Given the description of an element on the screen output the (x, y) to click on. 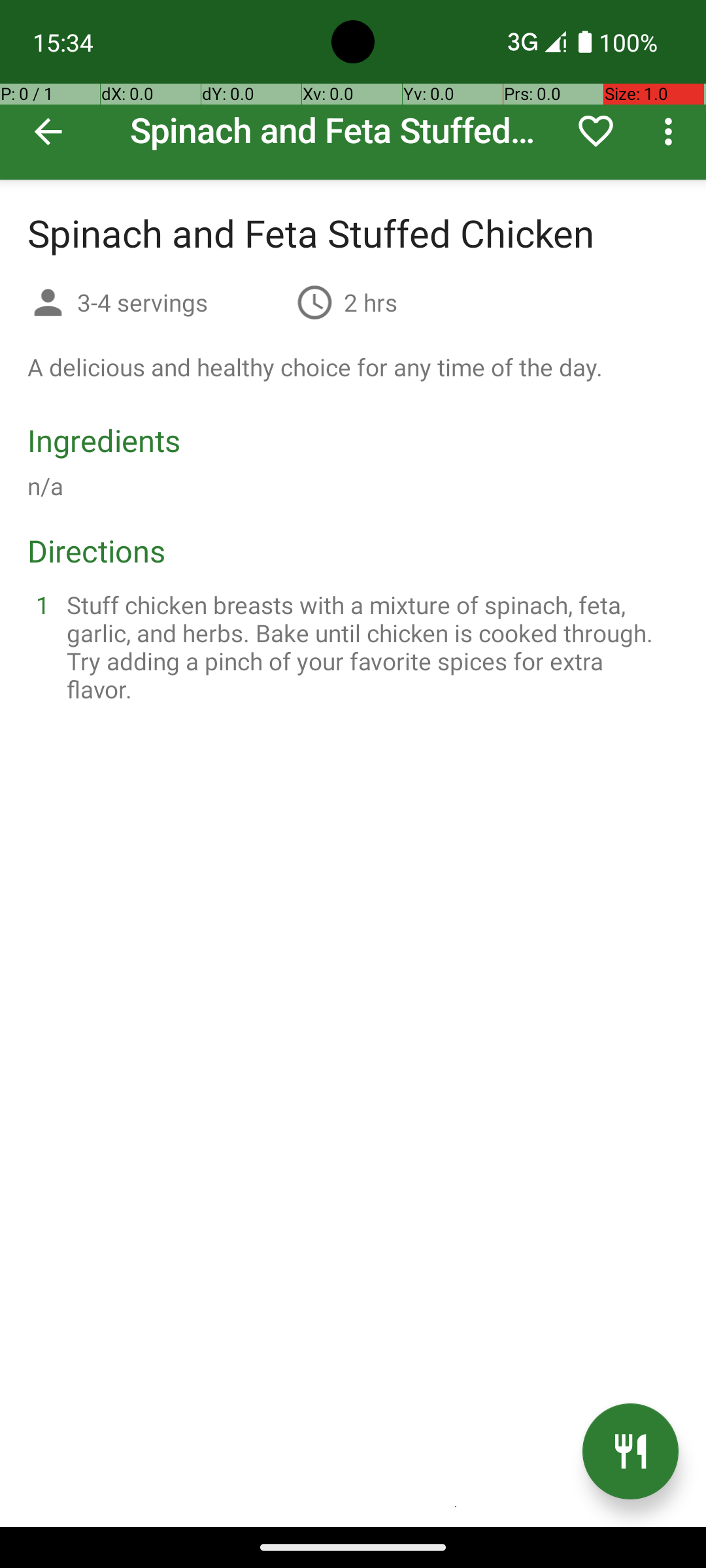
Spinach and Feta Stuffed Chicken Element type: android.widget.FrameLayout (353, 89)
2 hrs Element type: android.widget.TextView (370, 301)
n/a Element type: android.widget.TextView (45, 485)
Stuff chicken breasts with a mixture of spinach, feta, garlic, and herbs. Bake until chicken is cooked through. Try adding a pinch of your favorite spices for extra flavor. Element type: android.widget.TextView (368, 646)
